Given the description of an element on the screen output the (x, y) to click on. 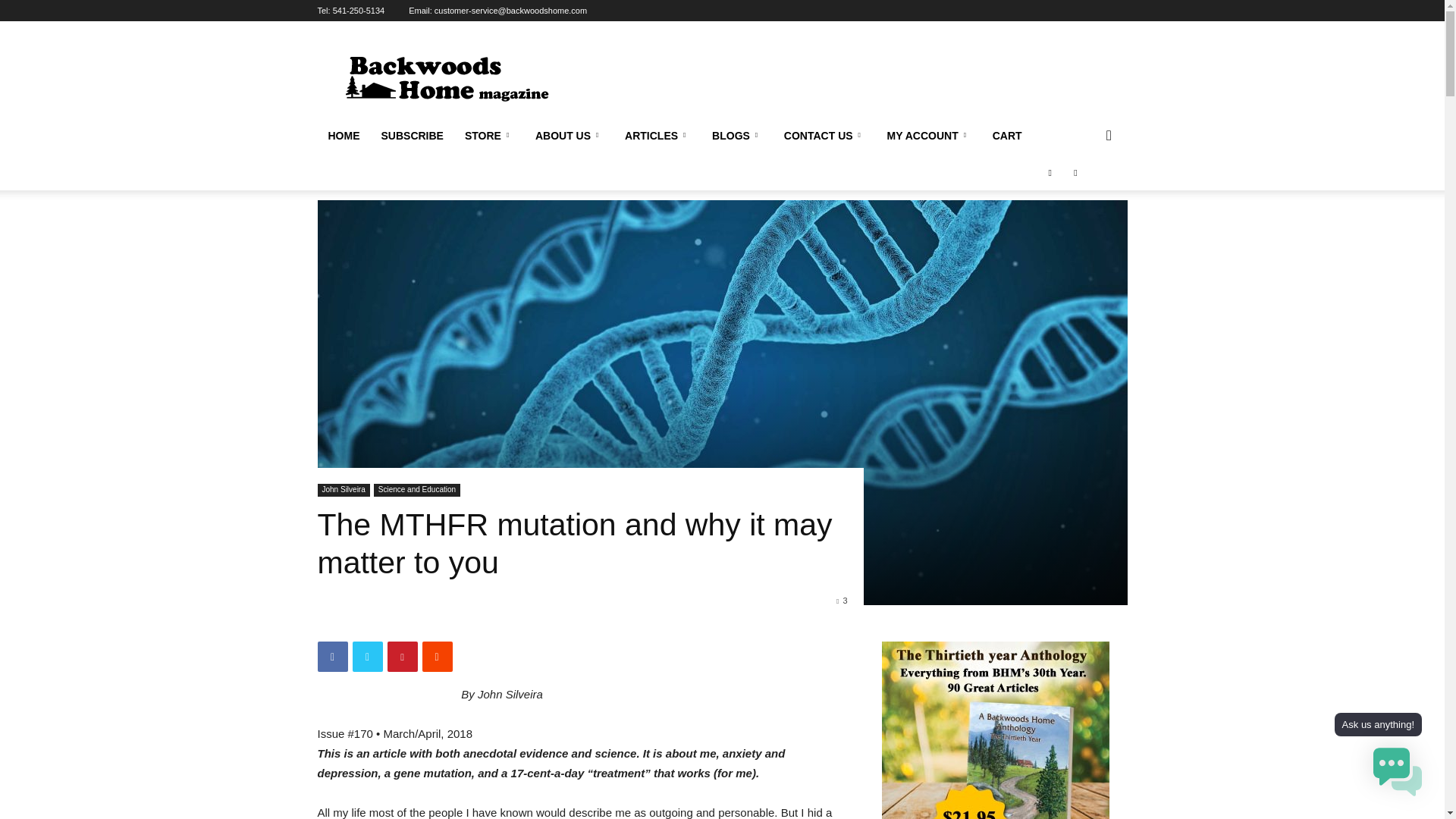
ReddIt (436, 656)
541-250-5134 (359, 10)
Pinterest (401, 656)
Advertisement (850, 76)
Twitter (366, 656)
Facebook (332, 656)
